Given the description of an element on the screen output the (x, y) to click on. 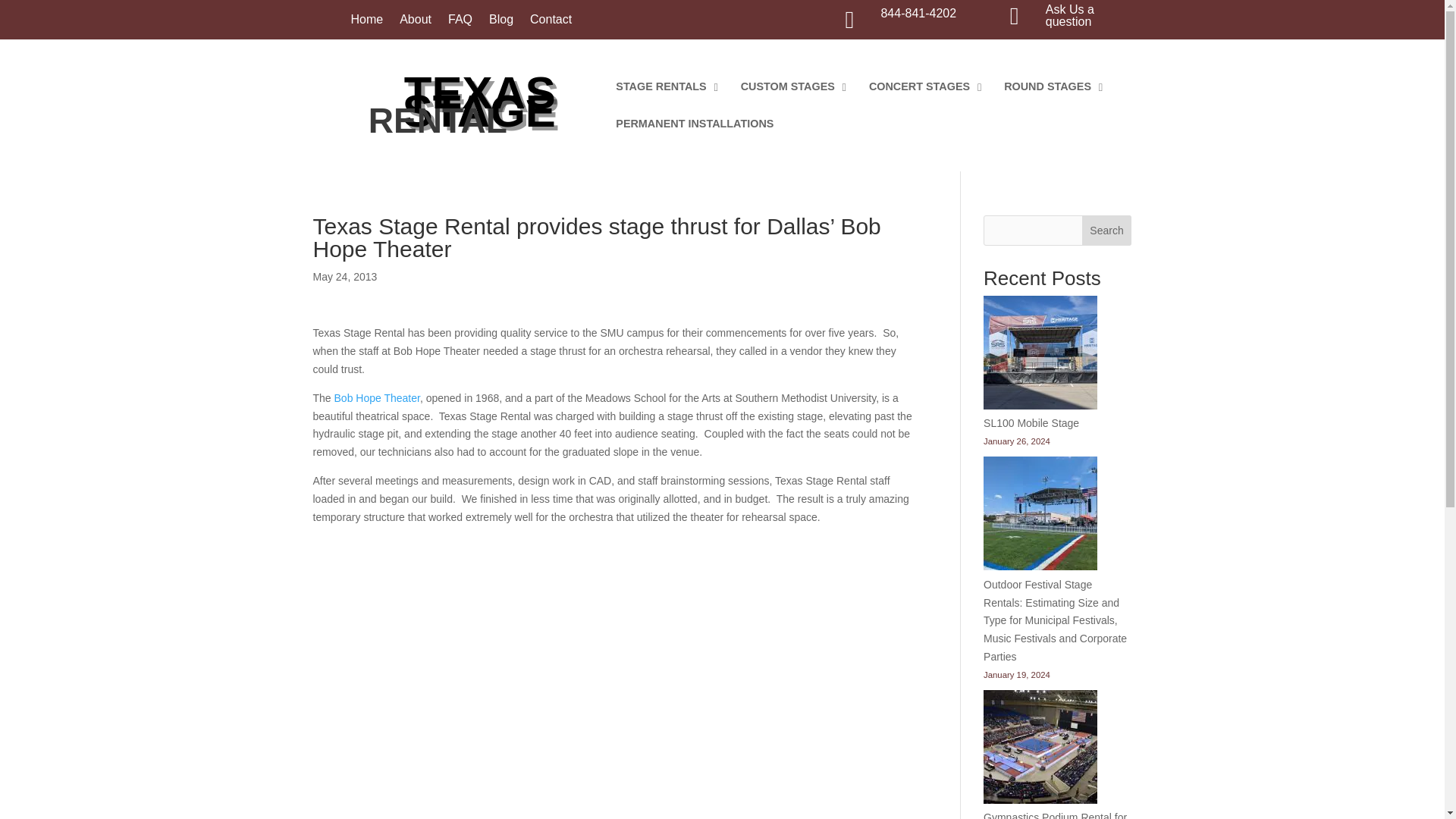
Contact (550, 22)
CONCERT STAGES (920, 86)
About (414, 22)
CUSTOM STAGES (789, 86)
Blog (501, 22)
STAGE RENTALS (662, 86)
844-841-4202 (918, 12)
Home (366, 22)
FAQ (459, 22)
